Given the description of an element on the screen output the (x, y) to click on. 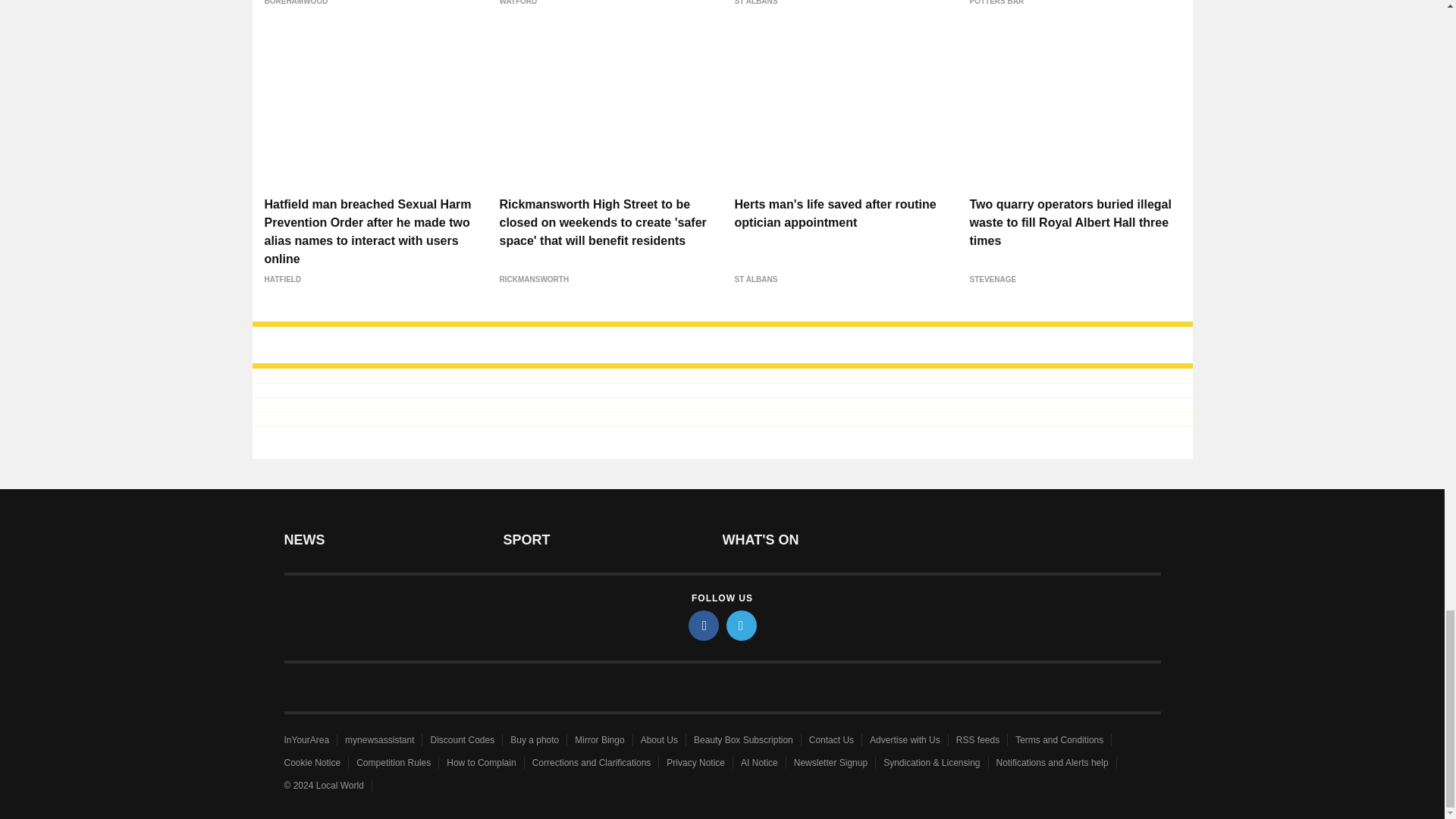
facebook (703, 625)
twitter (741, 625)
